Given the description of an element on the screen output the (x, y) to click on. 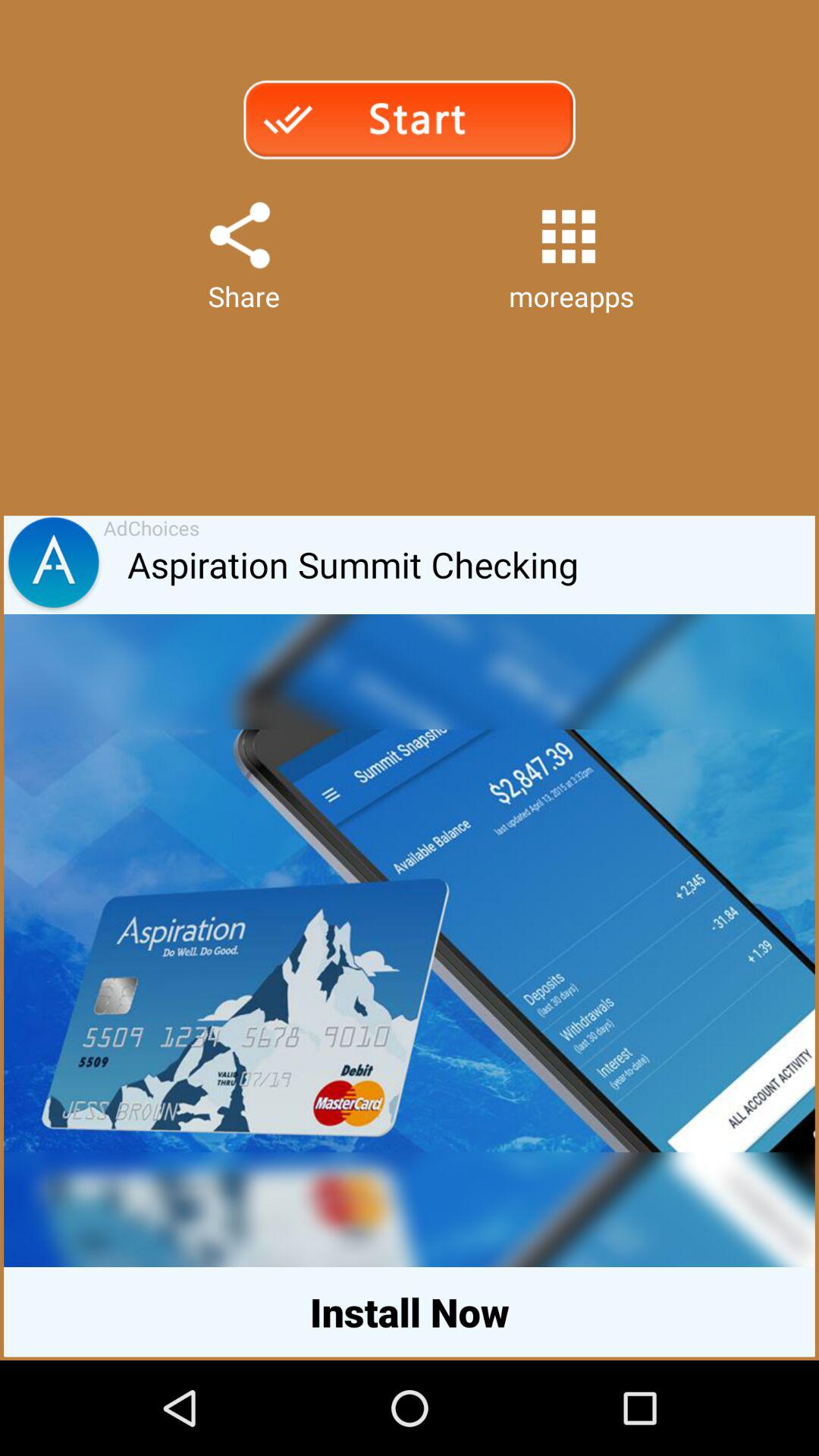
tap the icon at the top (409, 119)
